Given the description of an element on the screen output the (x, y) to click on. 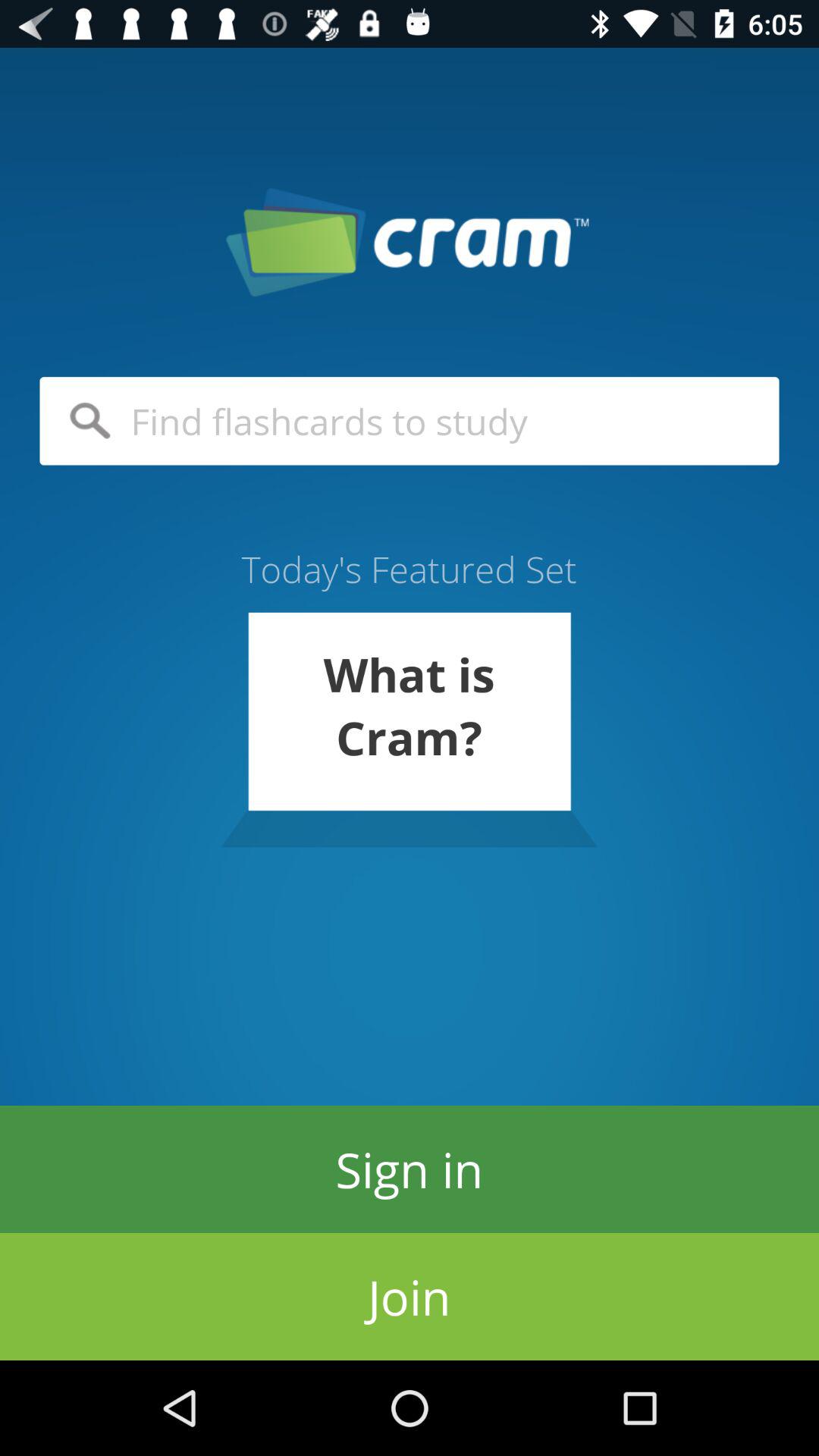
scroll until join icon (409, 1296)
